Given the description of an element on the screen output the (x, y) to click on. 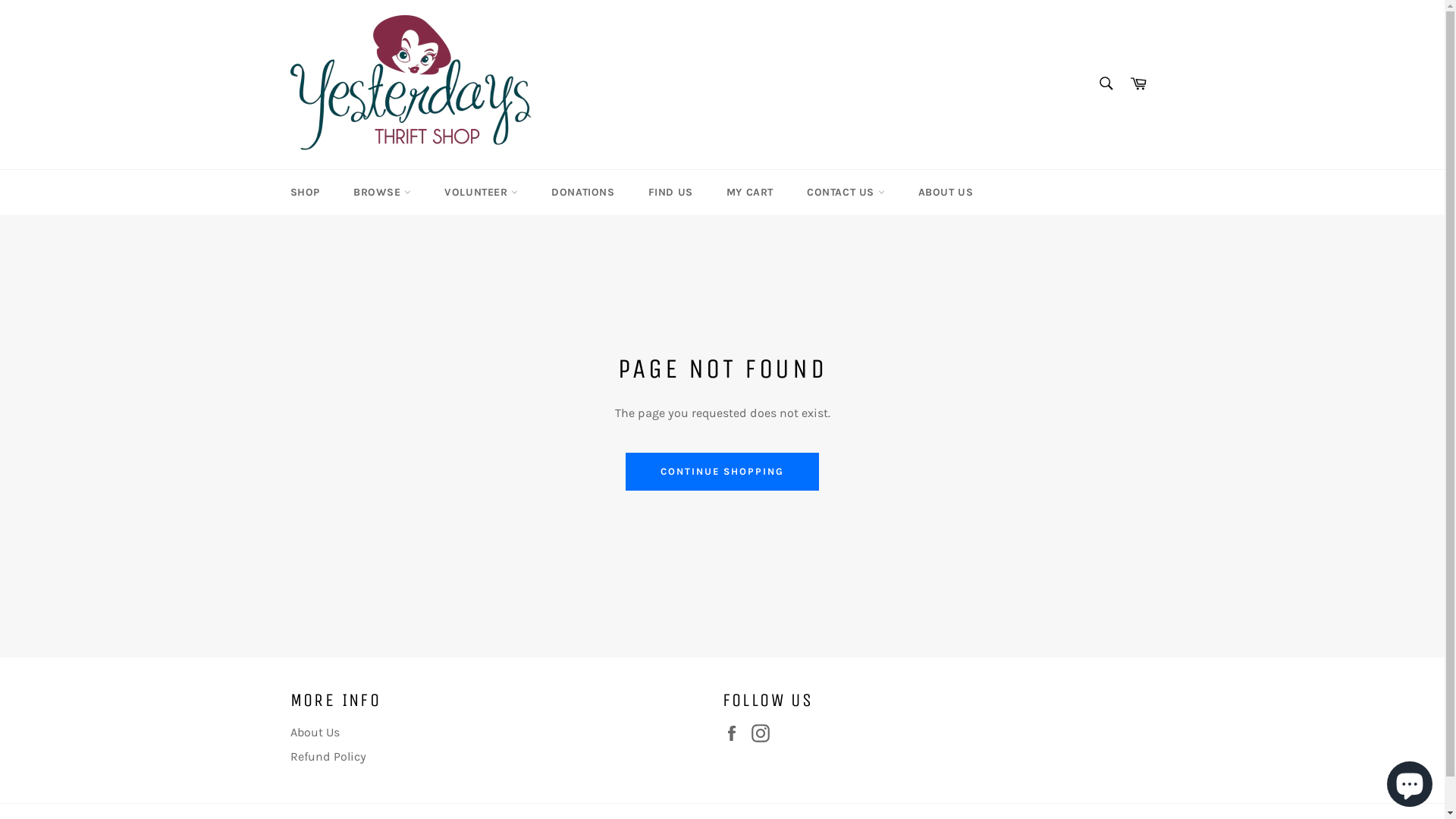
CONTINUE SHOPPING Element type: text (722, 471)
ABOUT US Element type: text (945, 191)
About Us Element type: text (313, 731)
Shopify online store chat Element type: hover (1409, 780)
BROWSE Element type: text (382, 191)
CONTACT US Element type: text (845, 191)
FIND US Element type: text (670, 191)
Refund Policy Element type: text (327, 756)
Search Element type: text (1105, 83)
Cart Element type: text (1138, 84)
SHOP Element type: text (304, 191)
DONATIONS Element type: text (582, 191)
MY CART Element type: text (749, 191)
VOLUNTEER Element type: text (481, 191)
Facebook Element type: text (734, 733)
Instagram Element type: text (763, 733)
